Given the description of an element on the screen output the (x, y) to click on. 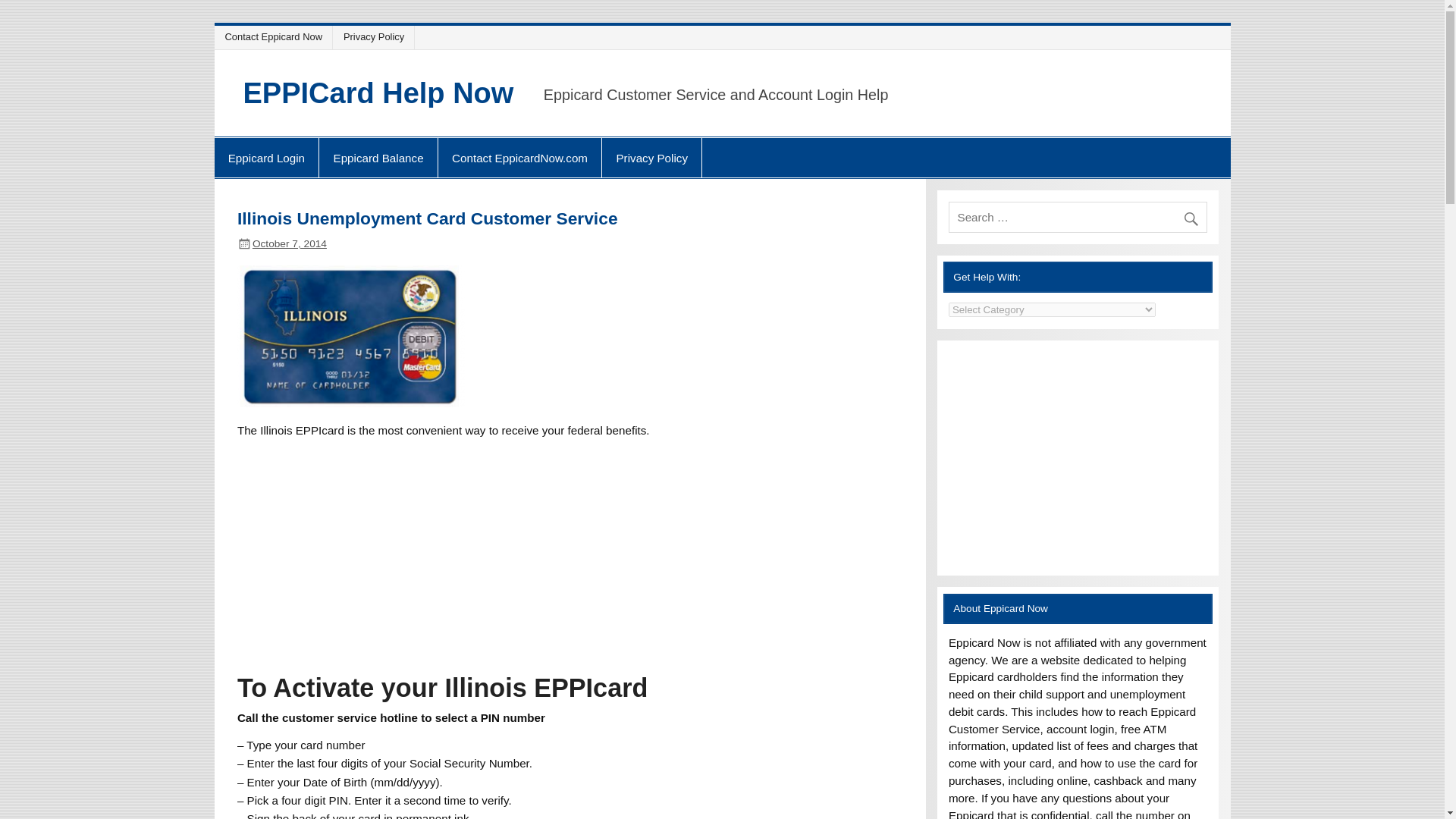
Privacy Policy (651, 157)
Advertisement (1078, 458)
EPPICard Help Now (378, 92)
Eppicard Login (266, 157)
Privacy Policy (375, 37)
Eppicard Balance (378, 157)
Contact EppicardNow.com (519, 157)
October 7, 2014 (288, 243)
1:23 am (288, 243)
Contact Eppicard Now (275, 37)
Advertisement (570, 542)
